Given the description of an element on the screen output the (x, y) to click on. 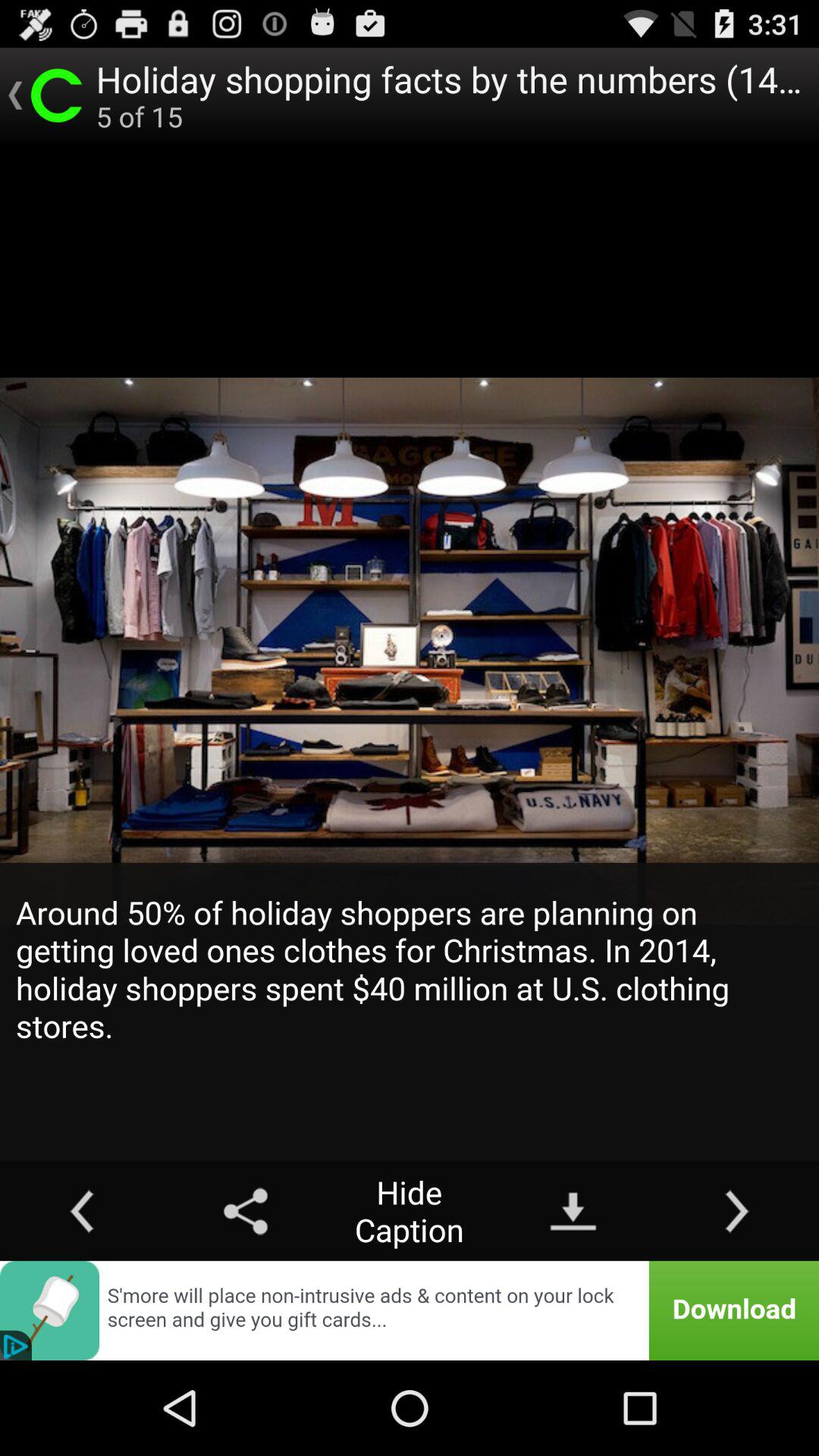
advertisement image (409, 1310)
